Given the description of an element on the screen output the (x, y) to click on. 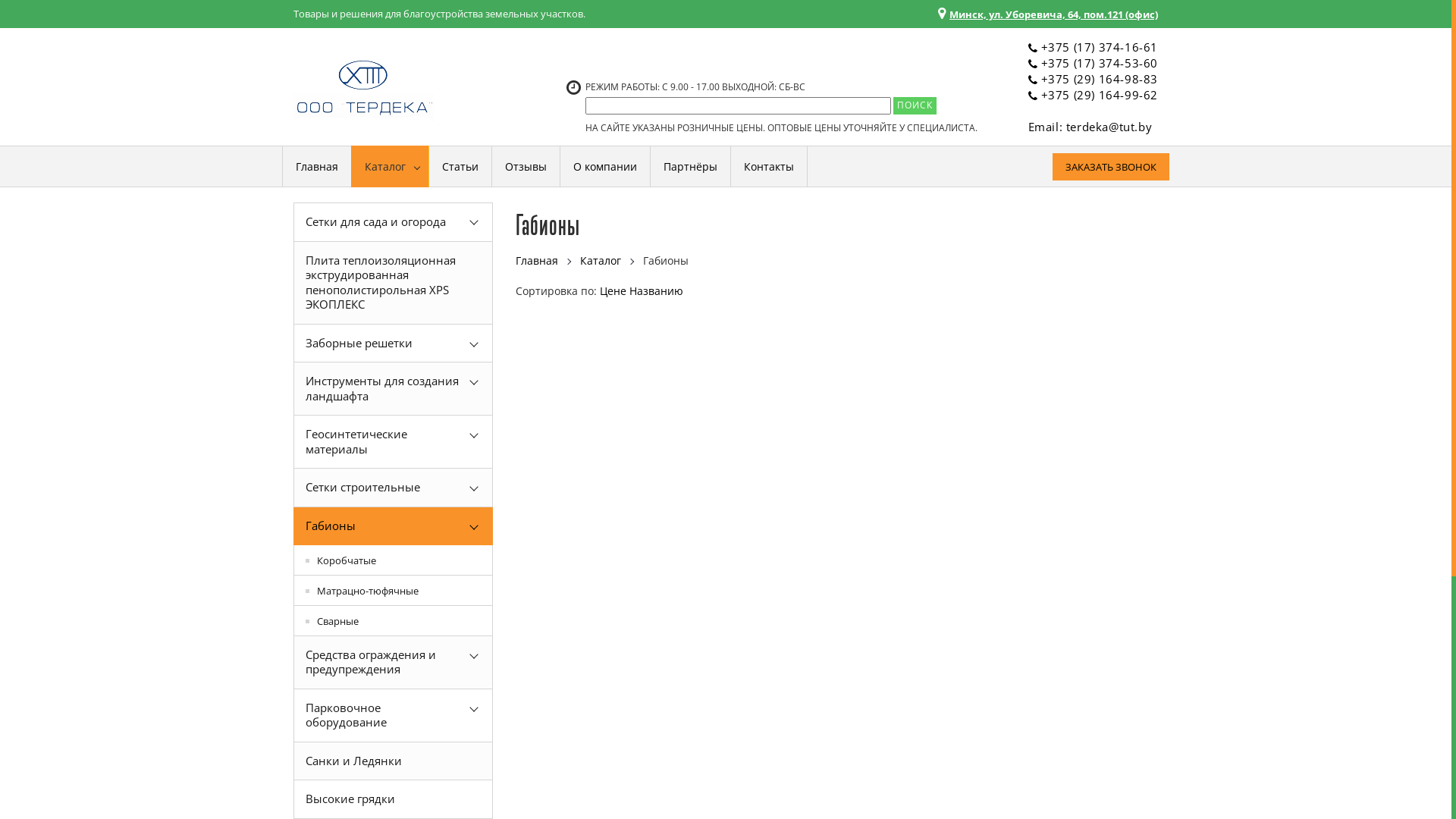
+375 (17) 374-53-60 Element type: text (1099, 62)
+375 (29) 164-98-83 Element type: text (1099, 78)
+375 (29) 164-99-62 Element type: text (1099, 94)
+375 (17) 374-16-61 Element type: text (1099, 46)
